Given the description of an element on the screen output the (x, y) to click on. 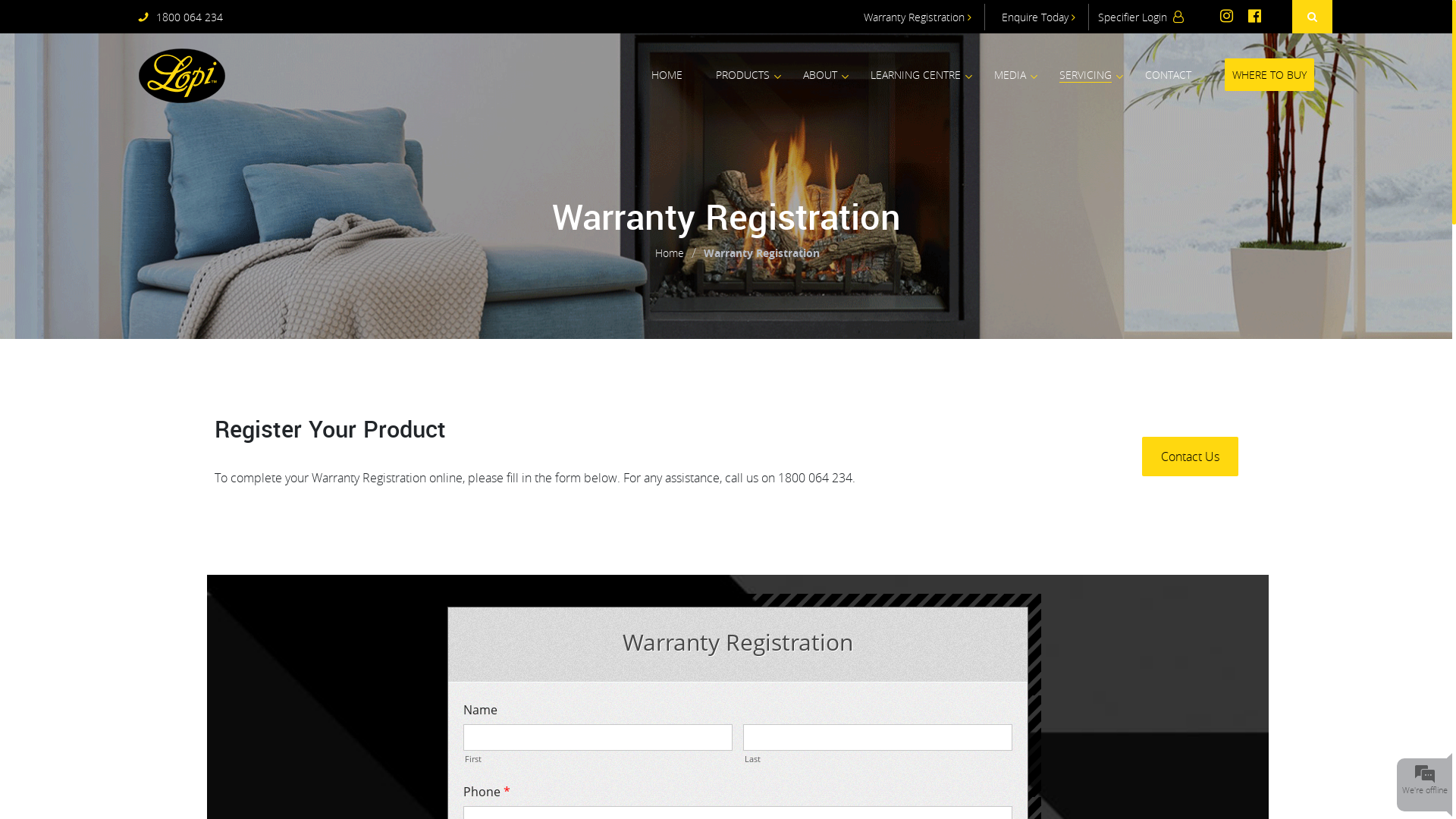
Contact Us Element type: text (1190, 456)
LEARNING CENTRE Element type: text (915, 74)
PRODUCTS Element type: text (742, 74)
Warranty Registration Element type: text (917, 16)
Specifier Login Element type: text (1140, 16)
MEDIA Element type: text (1009, 74)
SERVICING Element type: text (1084, 74)
CONTACT Element type: text (1168, 74)
HOME Element type: text (665, 74)
ABOUT Element type: text (819, 74)
Home Element type: text (669, 252)
Enquire Today Element type: text (1038, 16)
1800 064 234 Element type: text (180, 16)
WHERE TO BUY Element type: text (1268, 74)
